Given the description of an element on the screen output the (x, y) to click on. 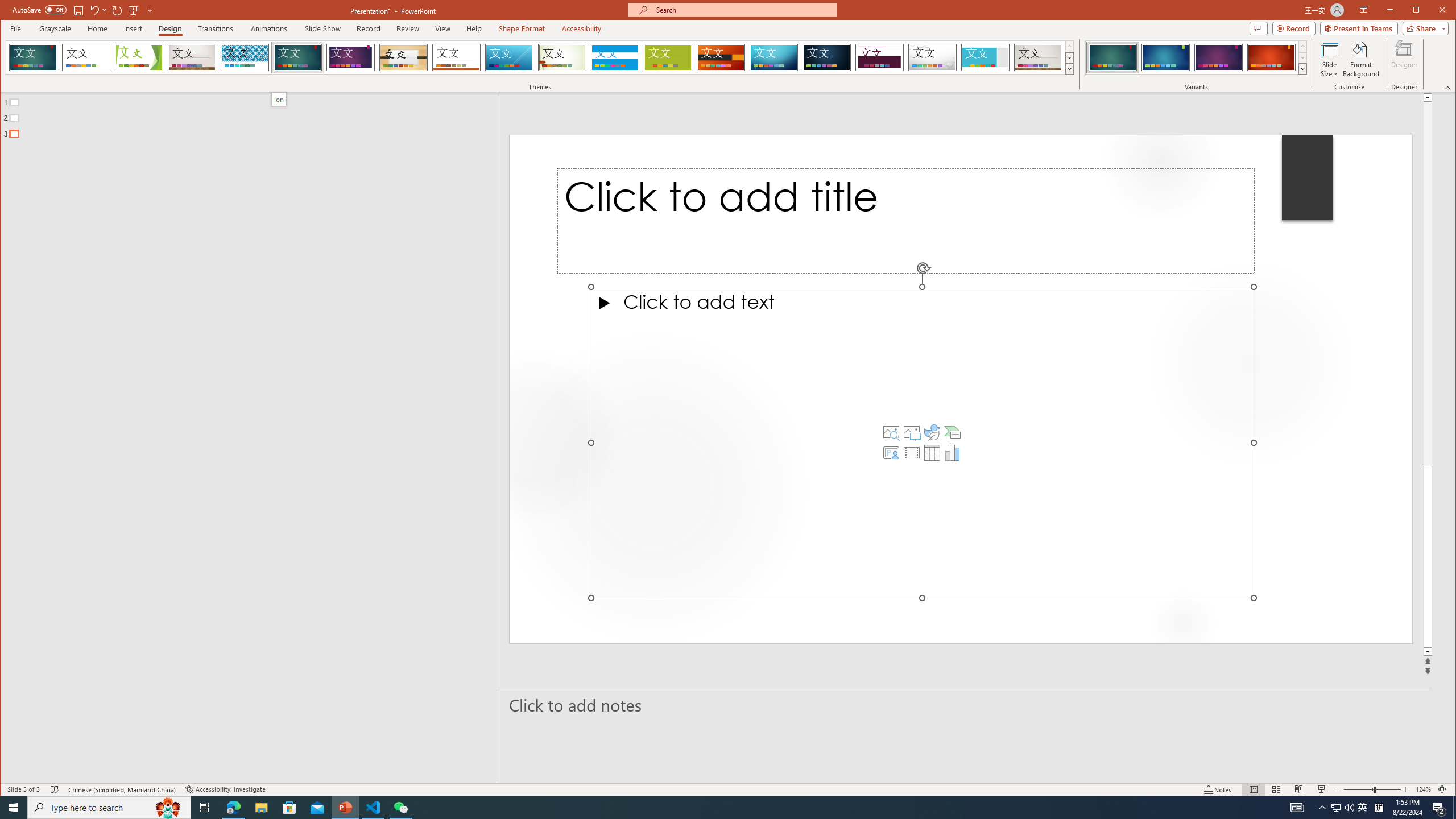
Slide Notes (965, 704)
Outline (252, 115)
Damask (826, 57)
Zoom 124% (1422, 789)
Basis (668, 57)
